Given the description of an element on the screen output the (x, y) to click on. 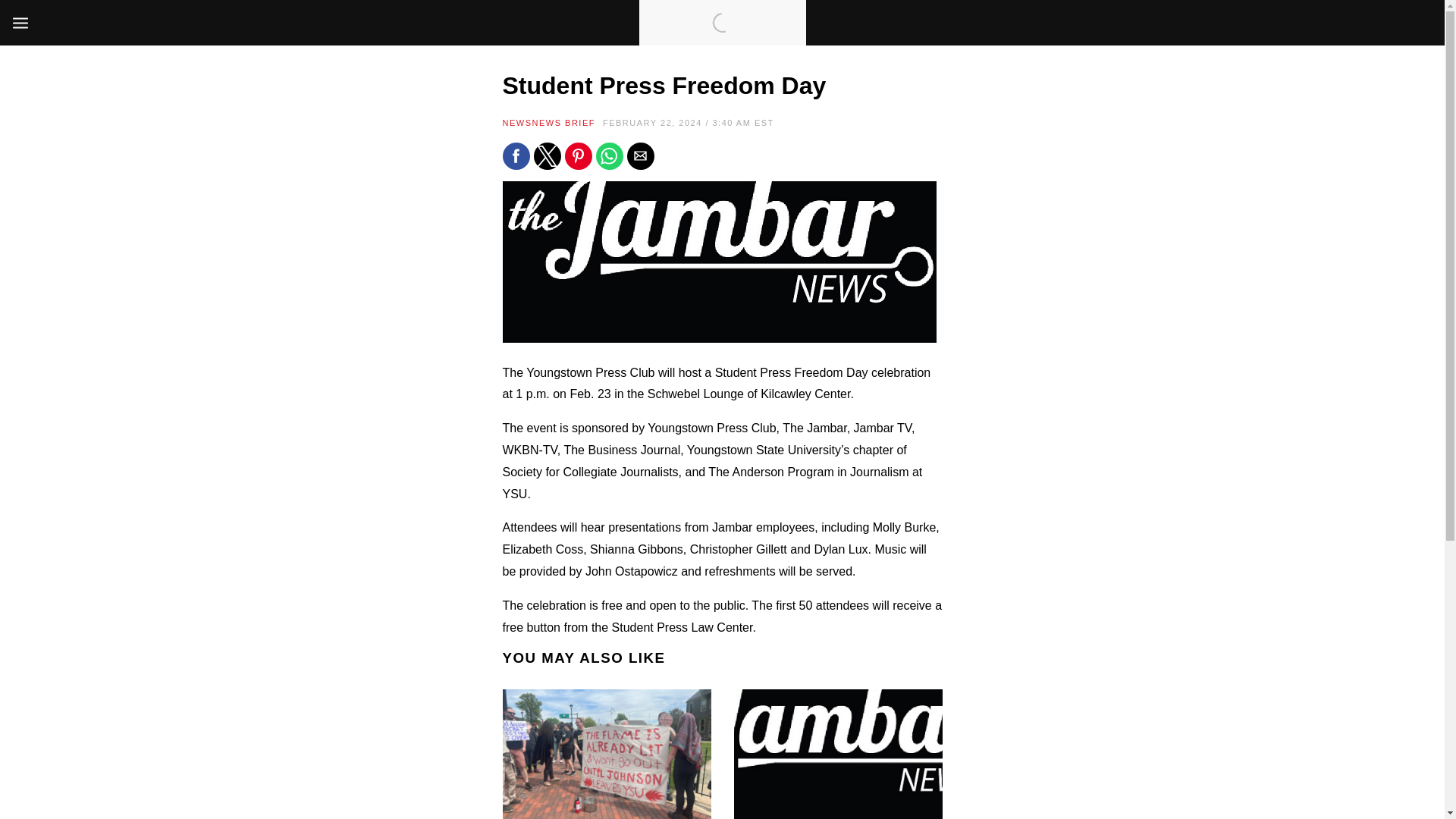
NEWS BRIEF (563, 122)
View all posts in News Brief (563, 122)
View all posts in News (516, 122)
NEWS (516, 122)
